Given the description of an element on the screen output the (x, y) to click on. 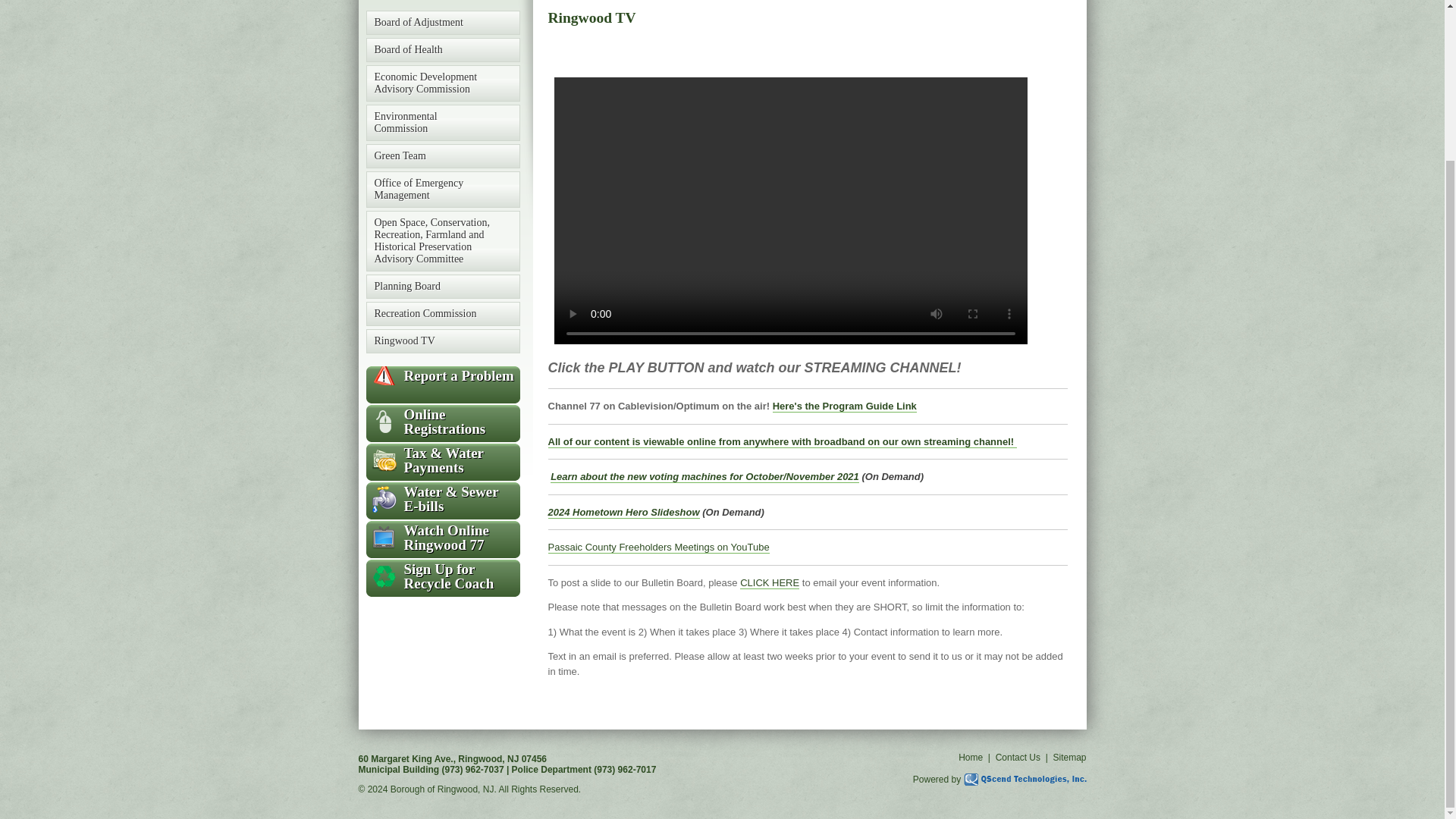
Home (970, 757)
2024 Hometown Hero Slideshow (622, 512)
Online Registrations (442, 421)
Watch Online Ringwood 77 (442, 537)
CLICK HERE (769, 582)
Report a Problem (442, 375)
Sitemap (1069, 757)
Contact Us (1018, 757)
Sign Up for Recycle Coach (442, 575)
Here's the Program Guide Link (845, 406)
Passaic County Freeholders Meetings on YouTube (657, 547)
